Given the description of an element on the screen output the (x, y) to click on. 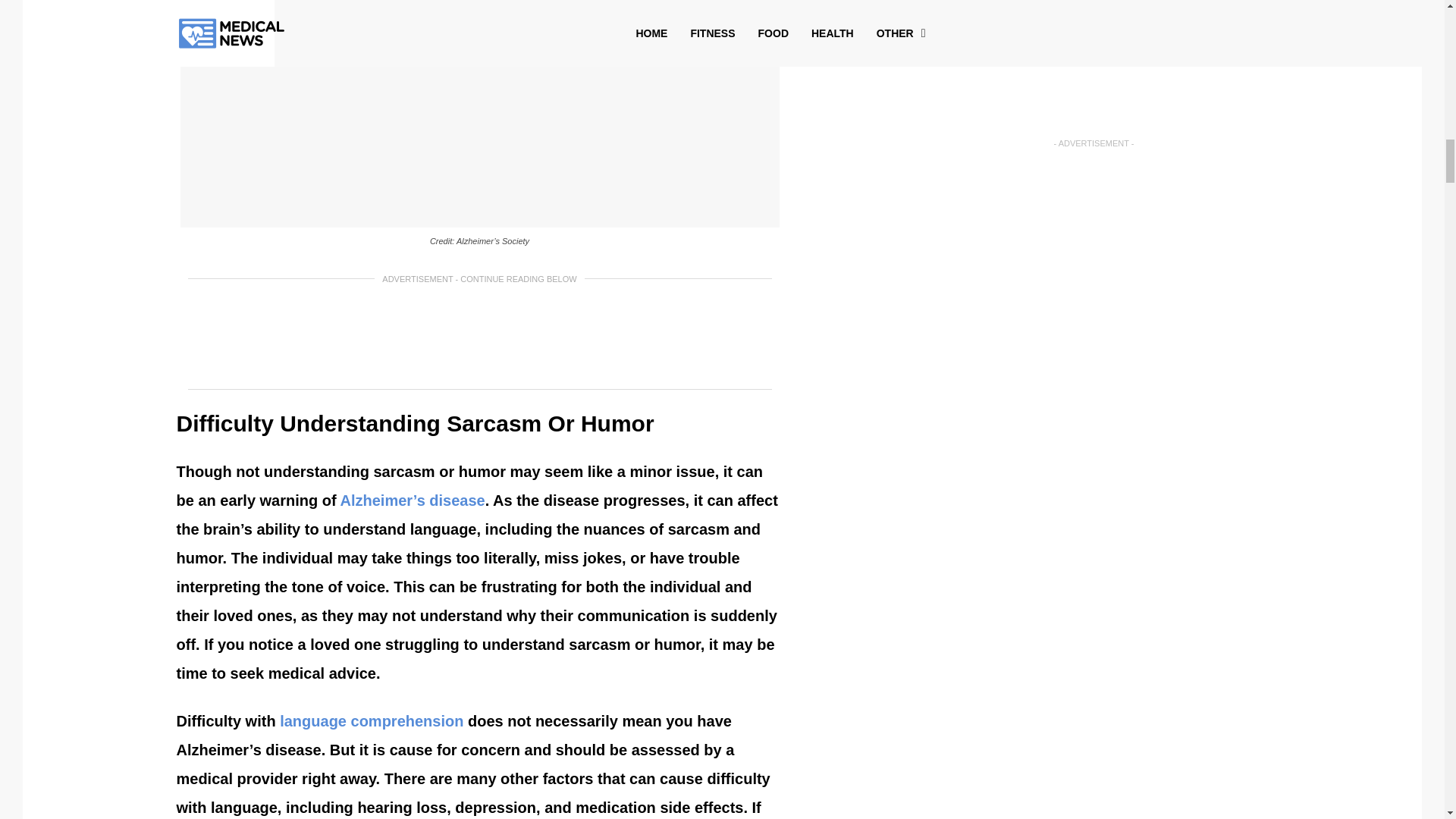
language comprehension (371, 720)
